Given the description of an element on the screen output the (x, y) to click on. 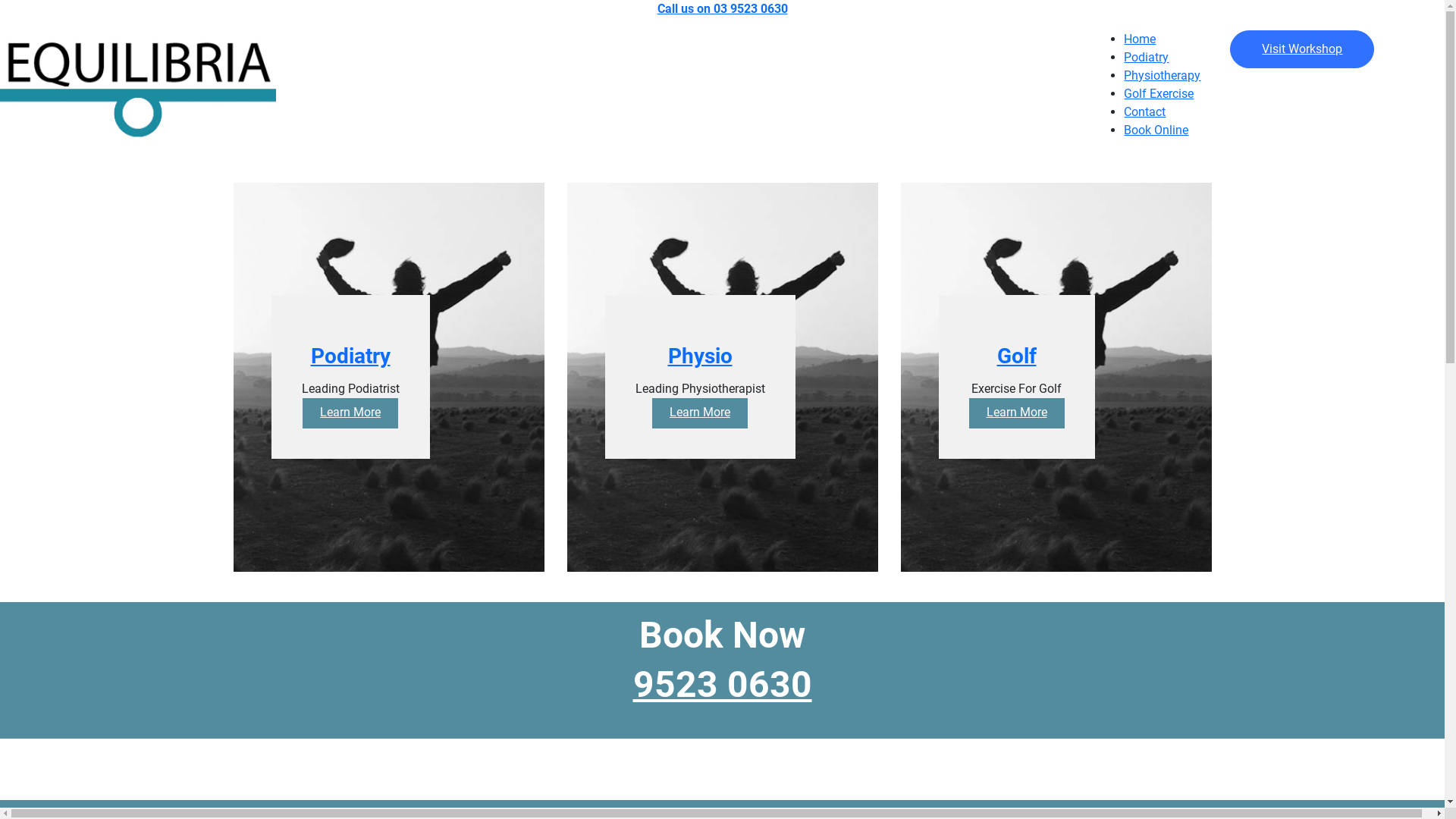
Home Element type: text (1139, 38)
Podiatry Element type: text (350, 368)
Physio Element type: text (699, 368)
9523 0630 Element type: text (721, 684)
Learn More Element type: text (350, 413)
Physiotherapy Element type: text (1161, 75)
Learn More Element type: text (699, 413)
Learn More Element type: text (1016, 413)
Call us on 03 9523 0630 Element type: text (721, 8)
Visit Workshop Element type: text (1302, 49)
Contact Element type: text (1144, 111)
Golf Element type: text (1015, 368)
Golf Exercise Element type: text (1158, 93)
Podiatry Element type: text (1145, 57)
Book Online Element type: text (1155, 129)
